Given the description of an element on the screen output the (x, y) to click on. 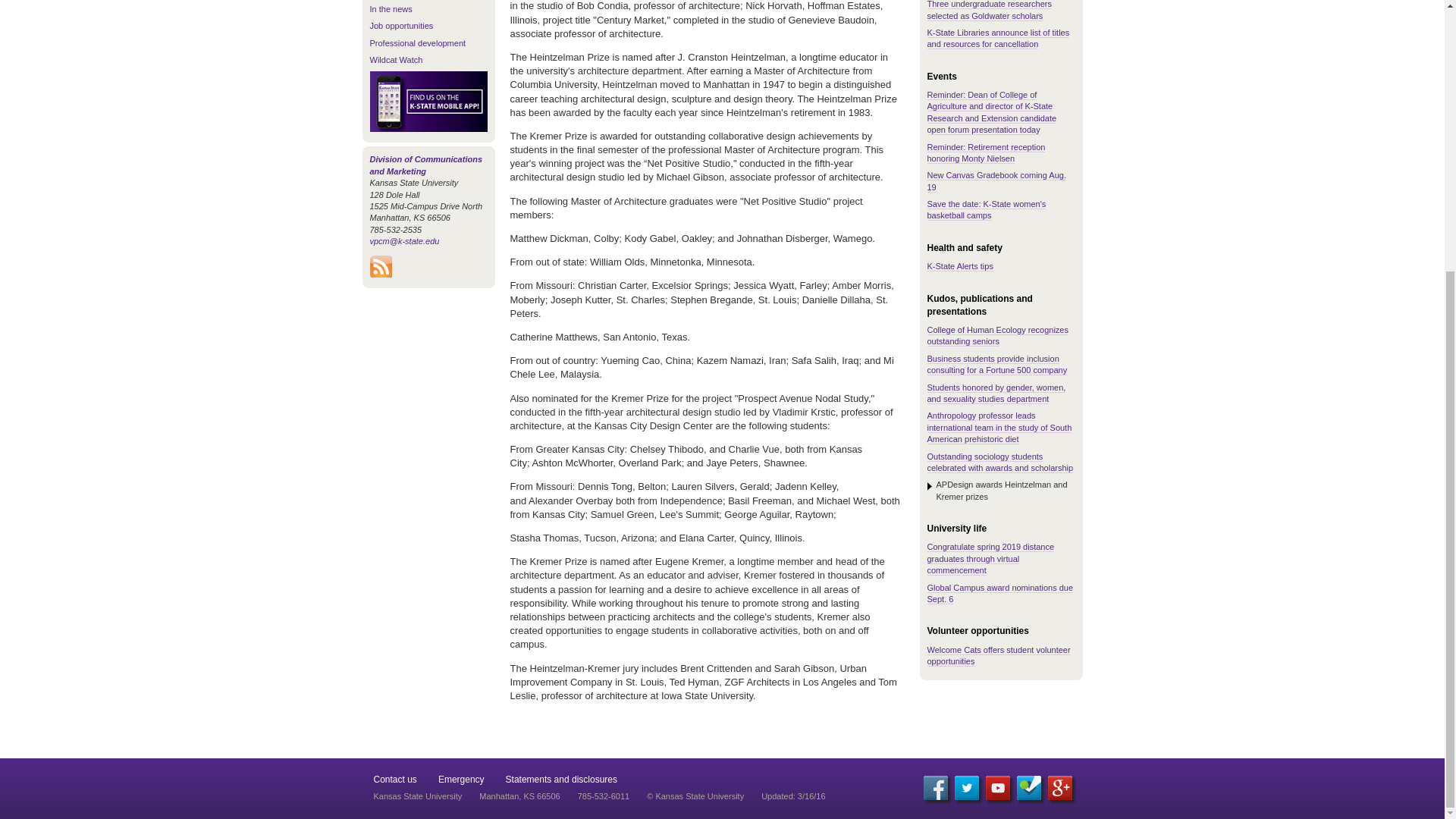
Division of Communications and Marketing (426, 164)
Subscribe to K-State Today RSS feeds (380, 273)
Wildcat Watch (396, 59)
In the news (390, 8)
Professional development (417, 42)
